Given the description of an element on the screen output the (x, y) to click on. 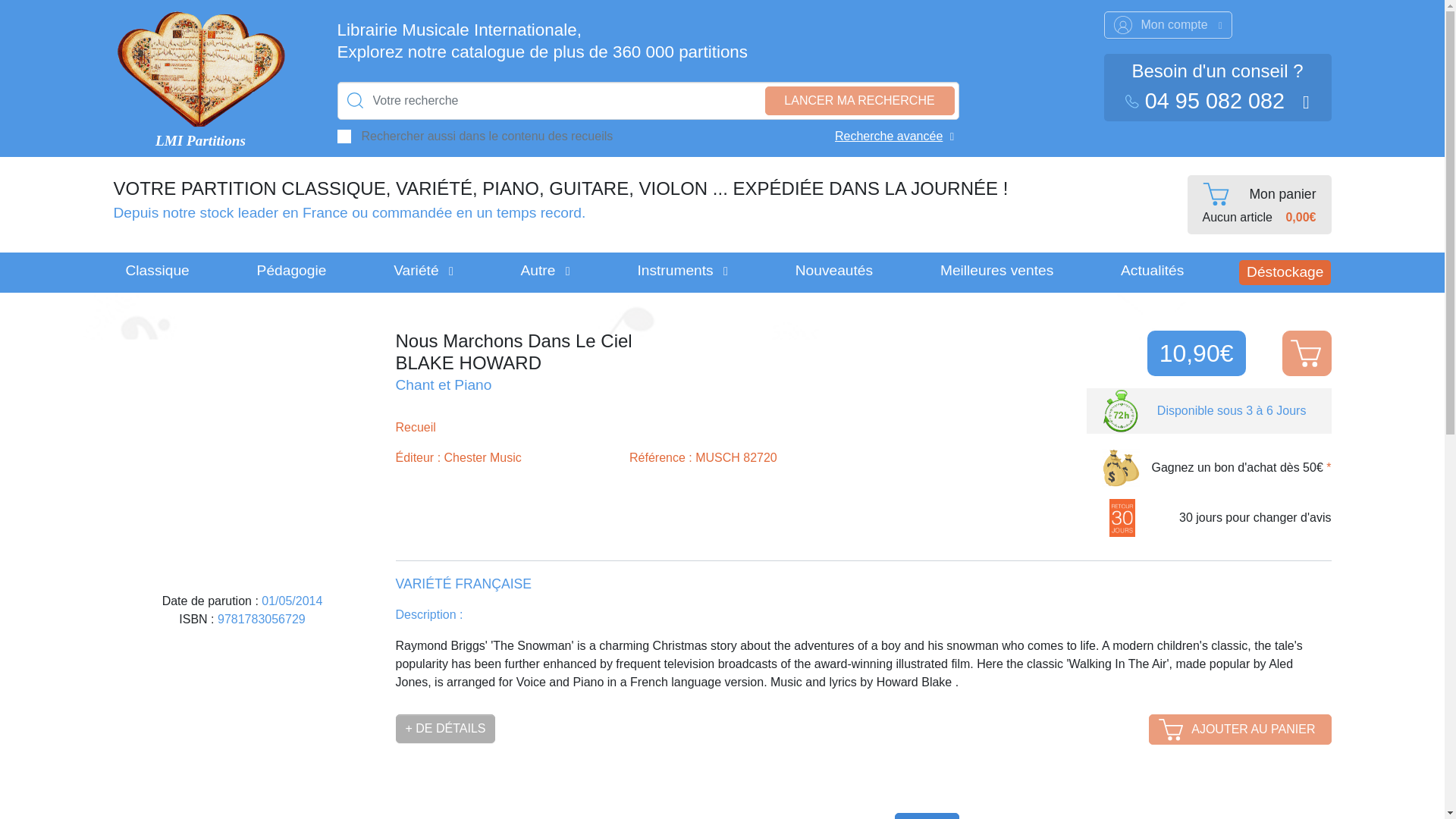
Voir toutes les partitions de BLAKE HOWARD (629, 363)
Autre (545, 272)
Voir le panier (1260, 204)
04 95 082 082 (1207, 100)
Ajouter au panier (1305, 352)
Mon compte (1167, 24)
Meilleures ventes (996, 272)
Instruments (681, 272)
Lancer ma recherche (858, 100)
LMI Partitions (200, 141)
Lancer ma recherche (858, 100)
Ajouter au panier (1239, 729)
Classique (157, 272)
Voir toutes les partitions pour cette instrumentation (444, 384)
